Given the description of an element on the screen output the (x, y) to click on. 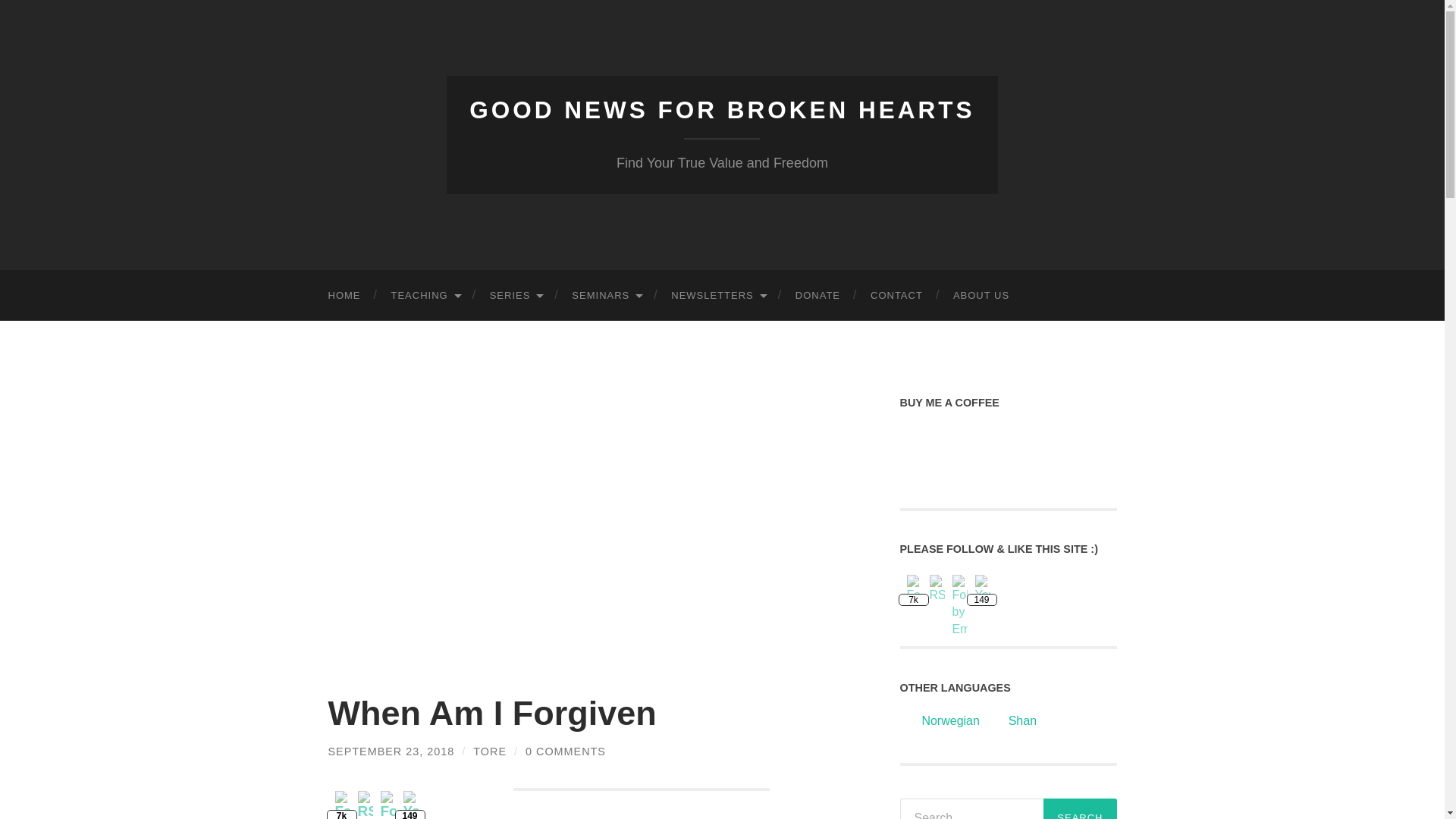
SERIES (515, 295)
NEWSLETTERS (718, 295)
CONTACT (896, 295)
DONATE (818, 295)
Search (1079, 808)
TEACHING (424, 295)
Search (1079, 808)
ABOUT US (981, 295)
GOOD NEWS FOR BROKEN HEARTS (721, 109)
SEMINARS (606, 295)
